Given the description of an element on the screen output the (x, y) to click on. 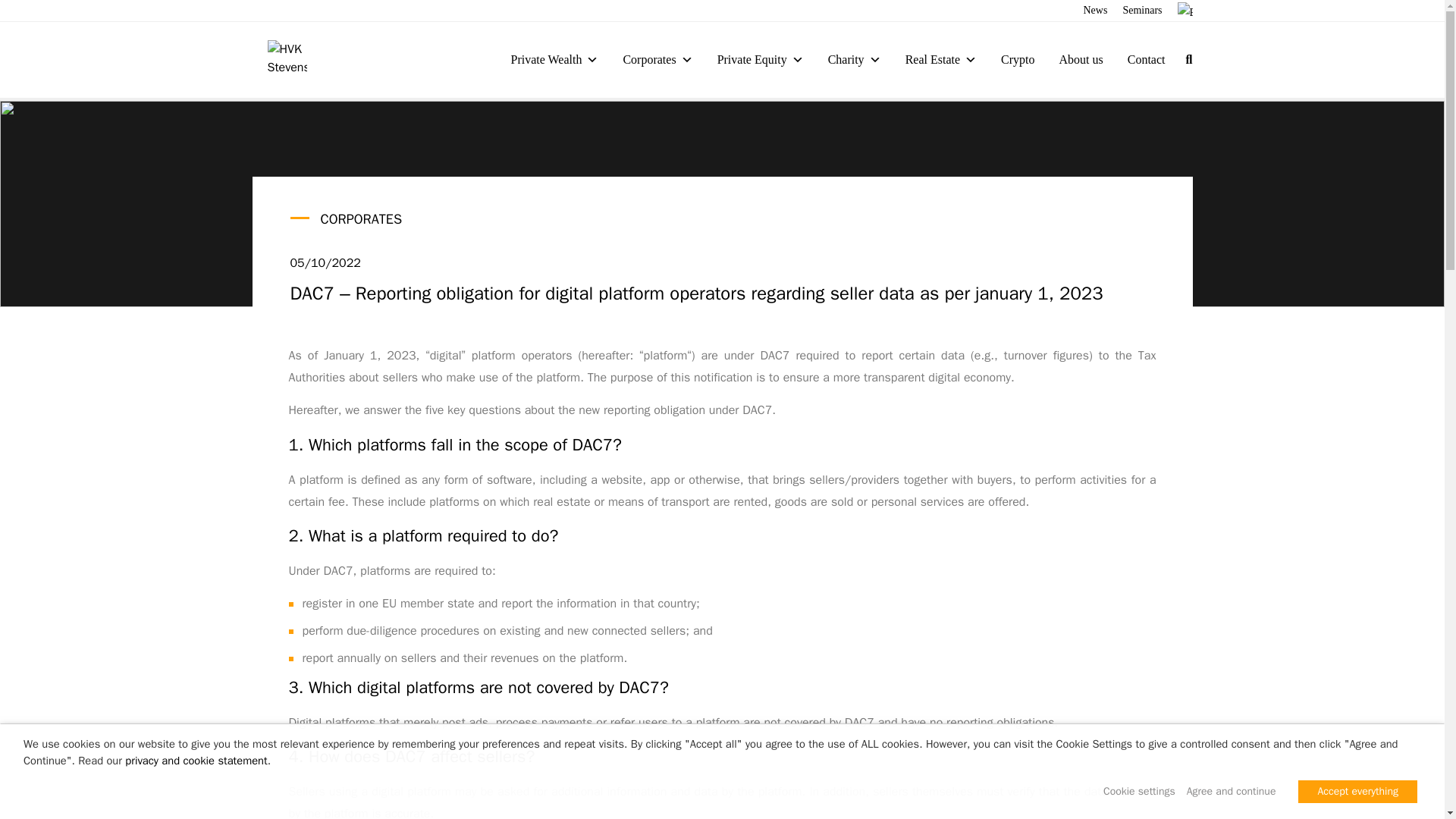
Corporates (657, 59)
Contact (1146, 59)
HVK Stevens (285, 59)
Crypto (1017, 59)
News (1095, 10)
Charity (854, 59)
About us (1080, 59)
CORPORATES (360, 218)
Private Equity (759, 59)
Private Wealth (553, 59)
Real Estate (940, 59)
Seminars (1142, 10)
